Given the description of an element on the screen output the (x, y) to click on. 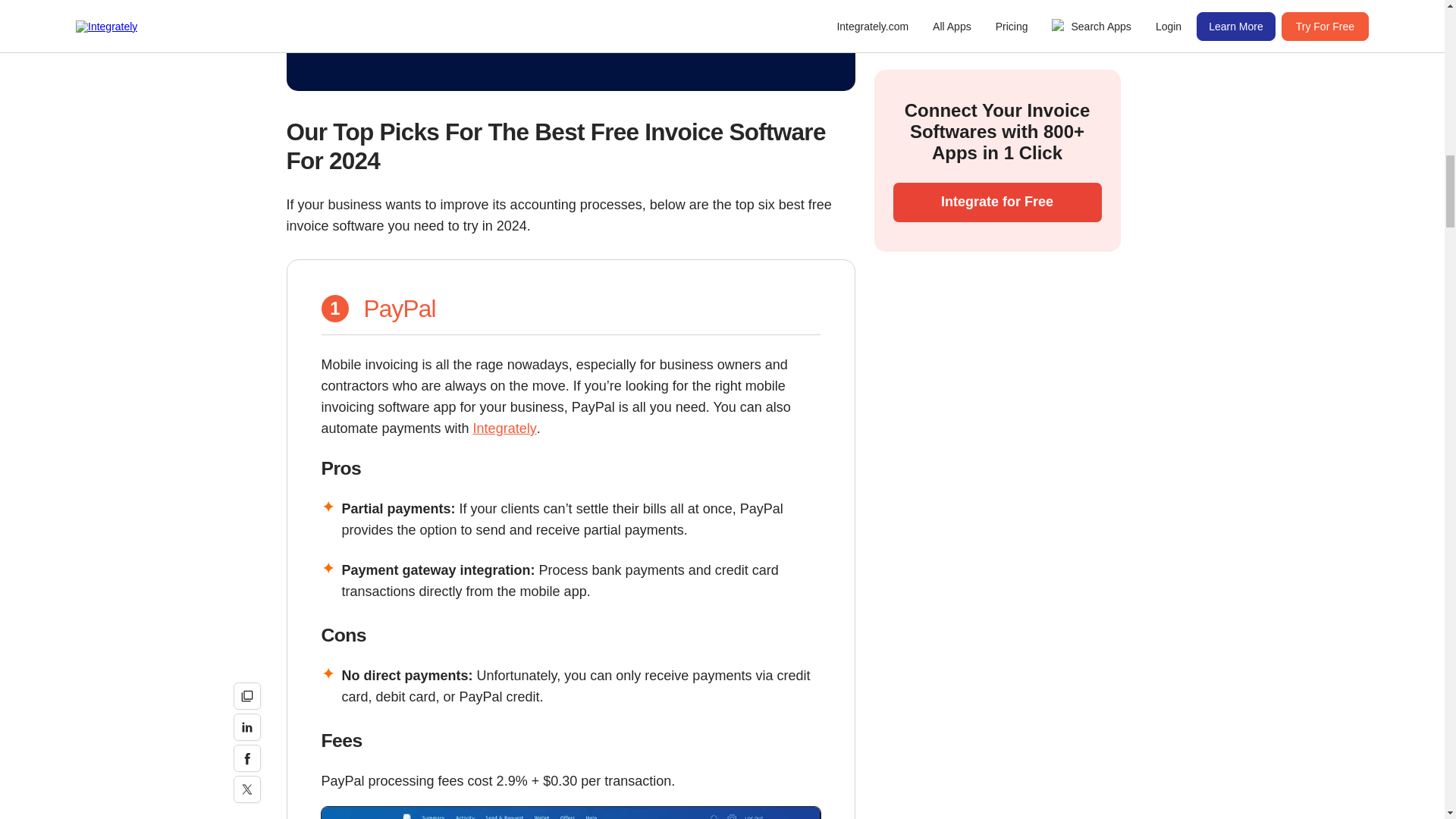
Try Integrately For FREE (569, 26)
Integrately (505, 427)
PayPal (399, 308)
